Given the description of an element on the screen output the (x, y) to click on. 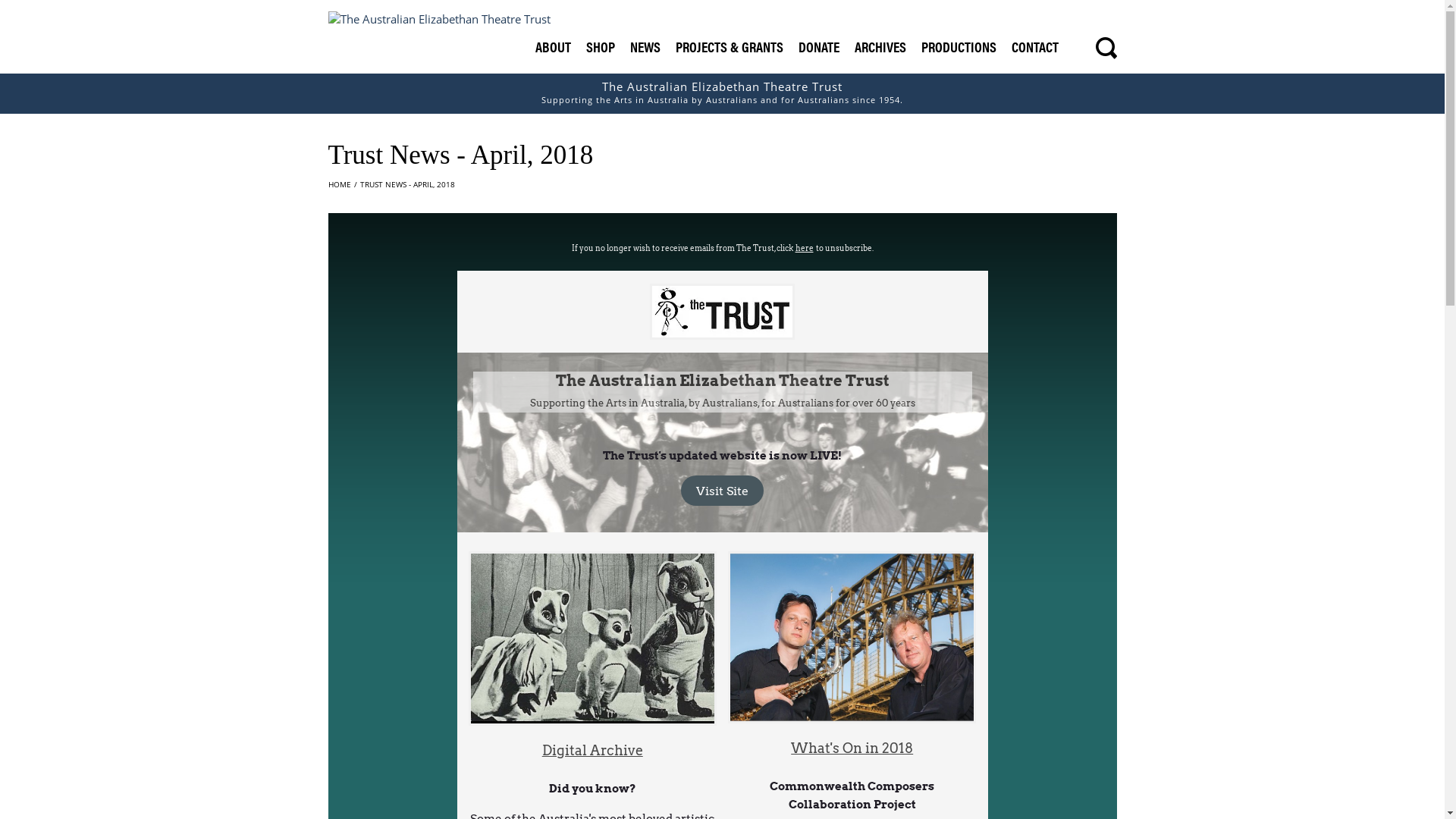
PRODUCTIONS Element type: text (957, 46)
The Australian Elizabethan Theatre Trust Element type: hover (438, 18)
Visit Site Element type: text (722, 490)
ARCHIVES Element type: text (879, 46)
What's On in 2018 Element type: text (851, 748)
TRUST NEWS - APRIL, 2018 Element type: text (406, 183)
here Element type: text (803, 247)
CONTACT Element type: text (1034, 46)
HD Duo - Commonwealth Collaboration Project Element type: hover (851, 637)
NEWS Element type: text (644, 46)
DONATE Element type: text (817, 46)
HOME Element type: text (338, 183)
Digital Archive Element type: text (592, 750)
SHOP Element type: text (599, 46)
PROJECTS & GRANTS Element type: text (728, 46)
Marionette Theatre of Australia, Tintookies Element type: hover (592, 638)
ABOUT Element type: text (553, 46)
